Given the description of an element on the screen output the (x, y) to click on. 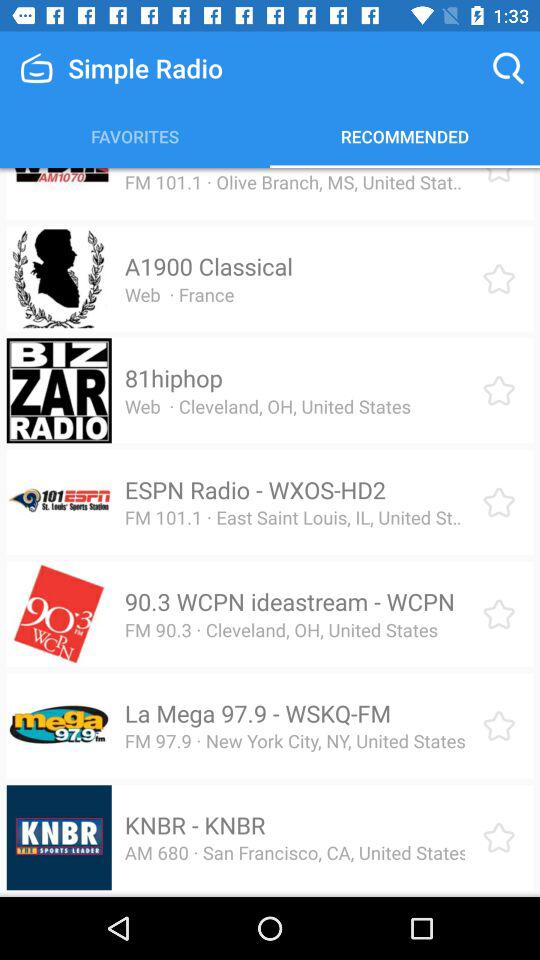
turn on the icon below fm 97 9 icon (194, 825)
